Given the description of an element on the screen output the (x, y) to click on. 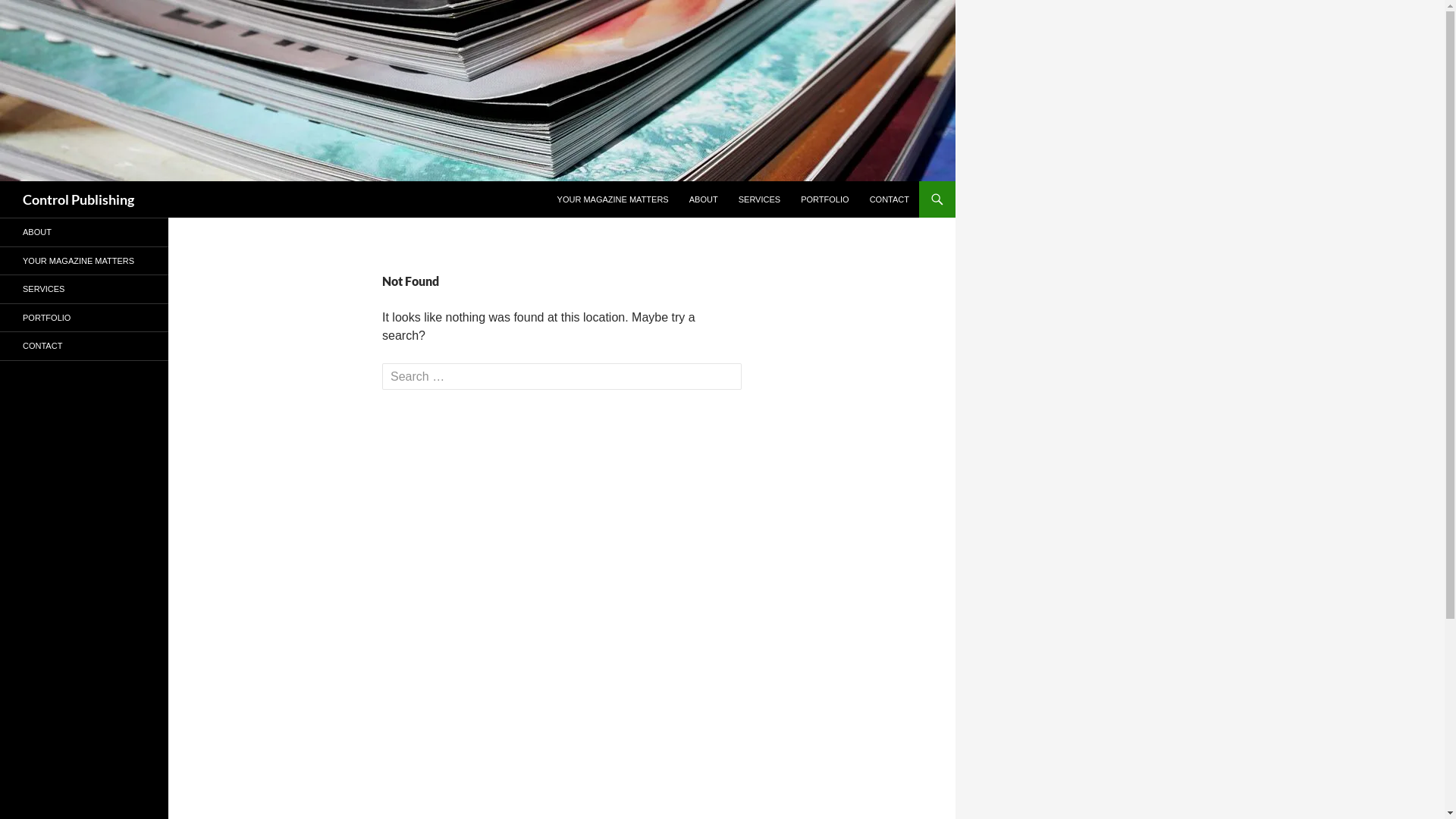
CONTACT Element type: text (889, 199)
Search Element type: text (3, 180)
Search Element type: text (40, 13)
PORTFOLIO Element type: text (84, 317)
SKIP TO CONTENT Element type: text (556, 180)
CONTACT Element type: text (84, 346)
ABOUT Element type: text (703, 199)
Control Publishing Element type: text (78, 199)
SERVICES Element type: text (759, 199)
YOUR MAGAZINE MATTERS Element type: text (84, 261)
YOUR MAGAZINE MATTERS Element type: text (612, 199)
ABOUT Element type: text (84, 232)
SERVICES Element type: text (84, 289)
PORTFOLIO Element type: text (824, 199)
